Given the description of an element on the screen output the (x, y) to click on. 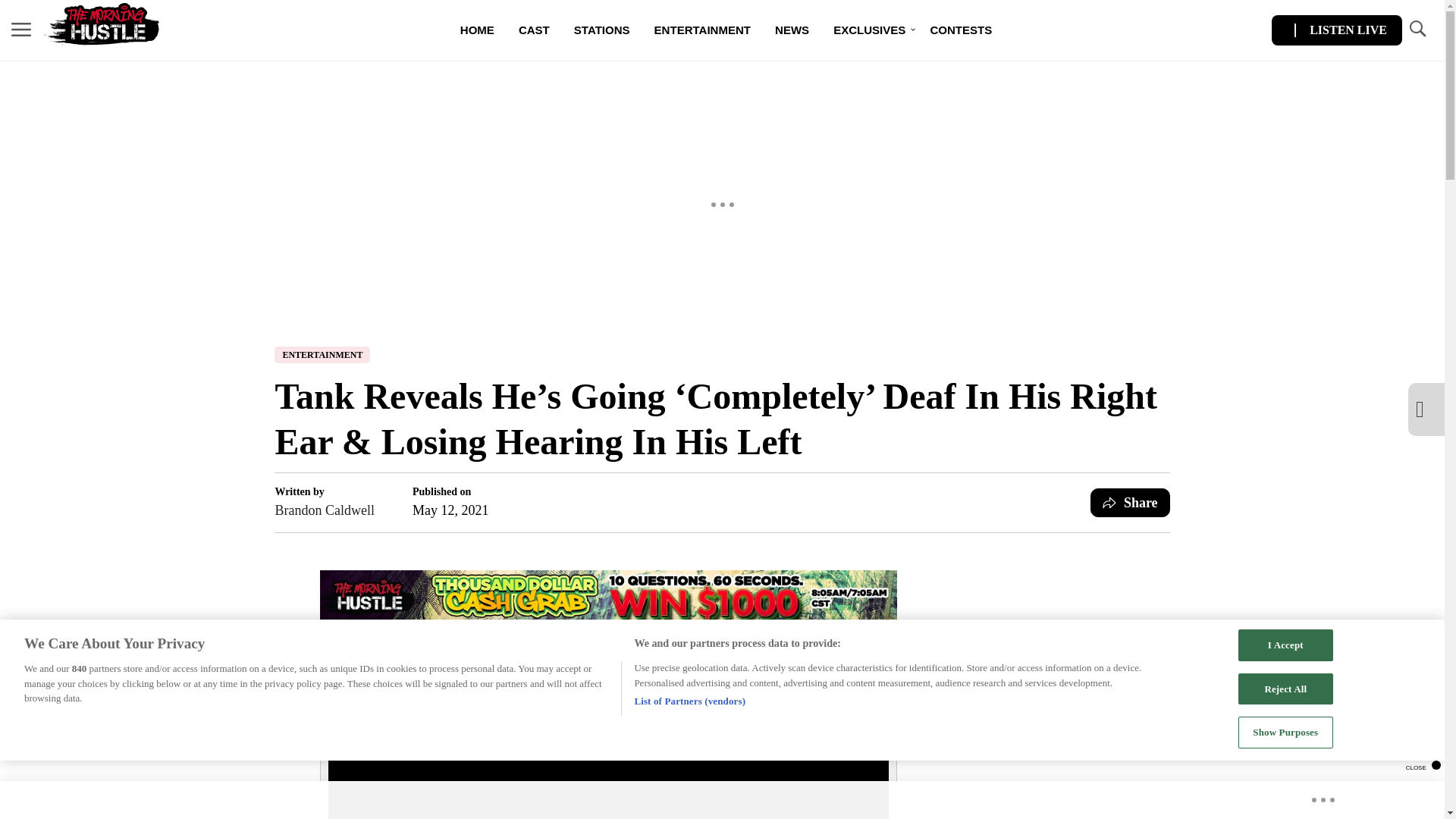
MENU (20, 30)
CAST (534, 30)
EXCLUSIVES (869, 30)
LISTEN LIVE (1336, 30)
TOGGLE SEARCH (1417, 30)
STATIONS (602, 30)
TOGGLE SEARCH (1417, 28)
MENU (20, 29)
Share (1130, 502)
ENTERTAINMENT (702, 30)
HOME (477, 30)
NEWS (791, 30)
CONTESTS (960, 30)
Brandon Caldwell (324, 509)
